Given the description of an element on the screen output the (x, y) to click on. 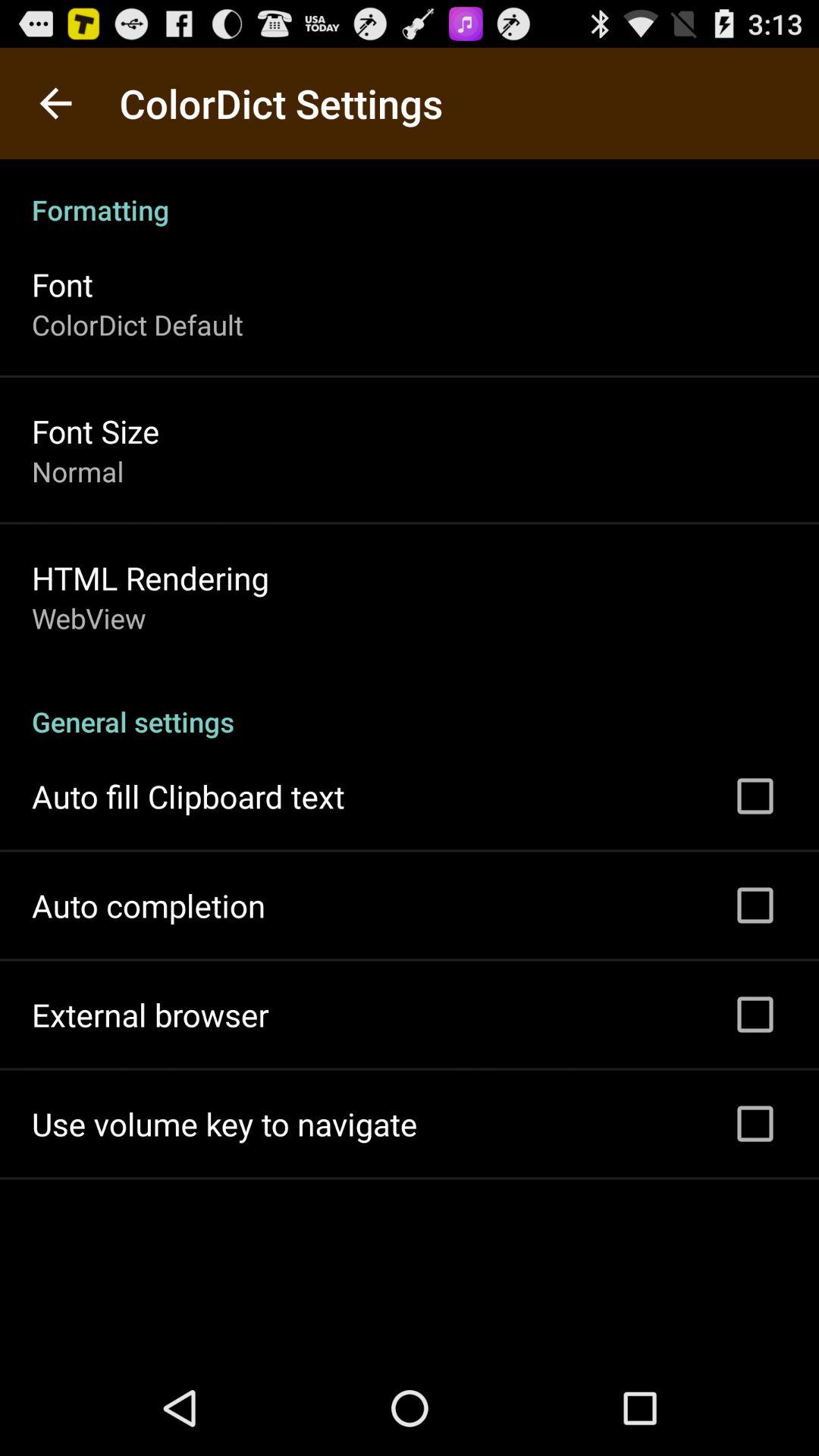
click the external browser app (150, 1014)
